Given the description of an element on the screen output the (x, y) to click on. 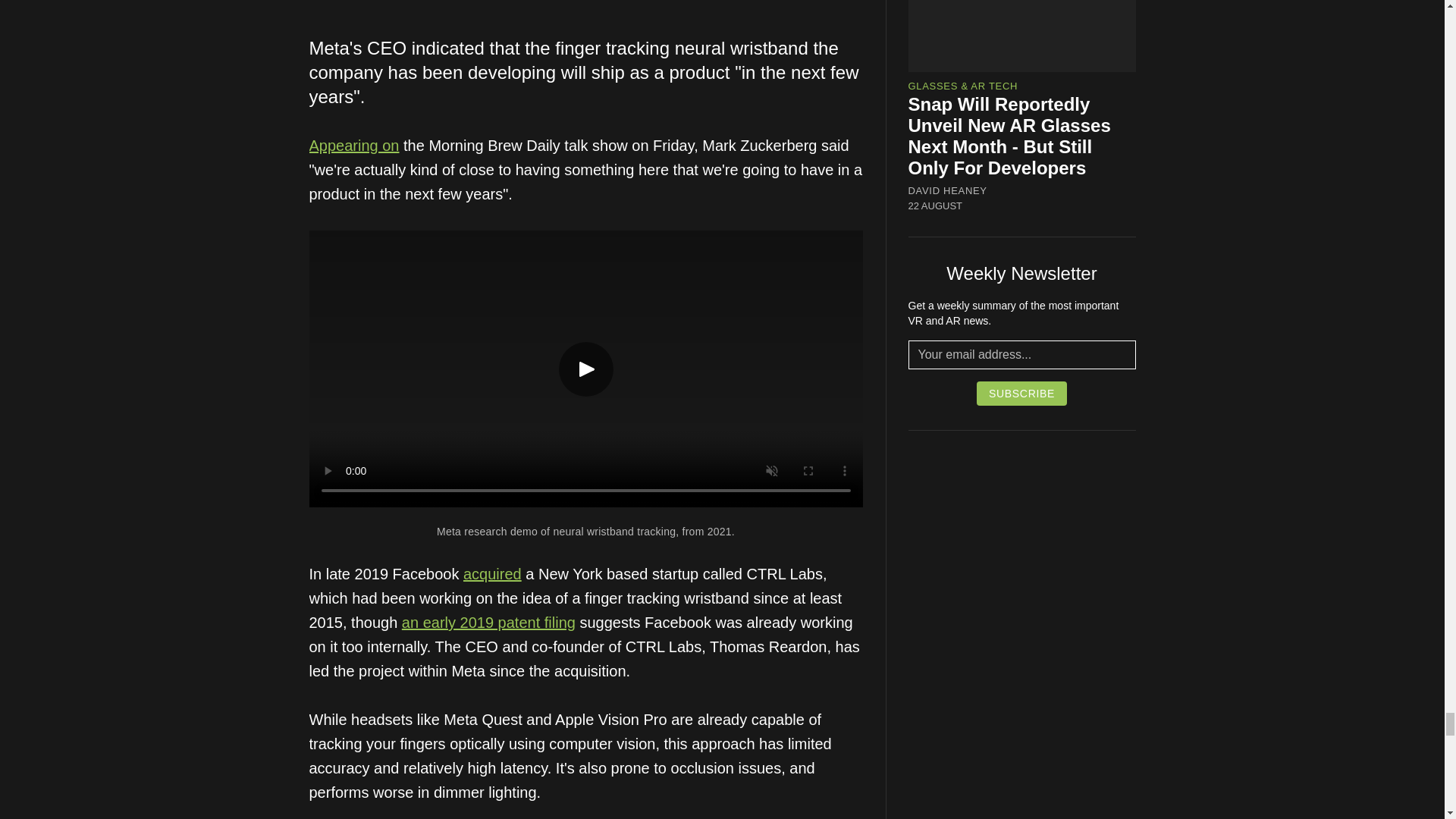
Appearing on (353, 145)
acquired (492, 573)
an early 2019 patent filing (488, 622)
Subscribe (1021, 393)
